Given the description of an element on the screen output the (x, y) to click on. 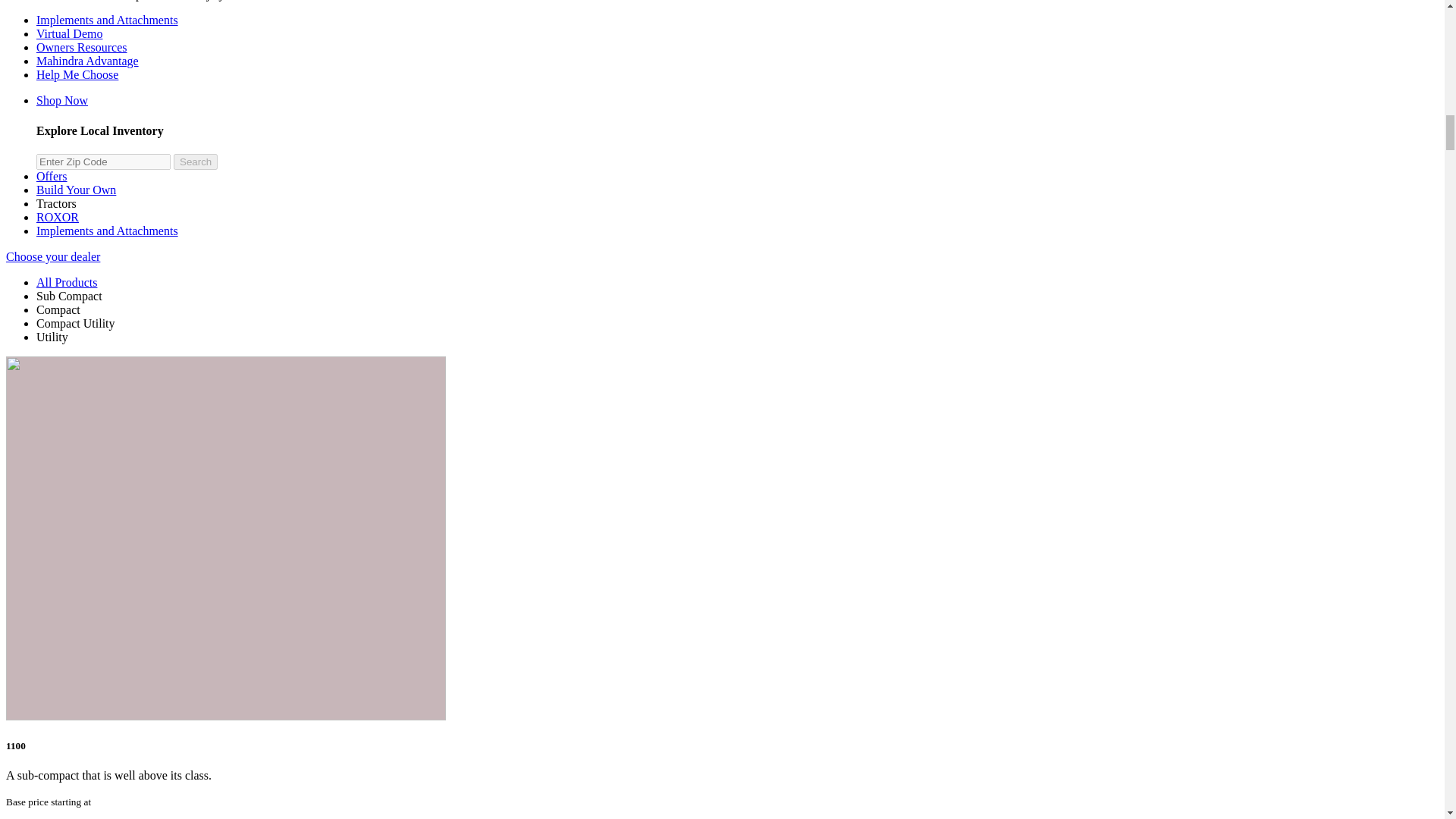
Shop Now (61, 100)
Search (194, 161)
Mahindra Advantage (87, 60)
Help Me Choose (76, 74)
Owners Resources (82, 47)
Virtual Demo (68, 33)
Implements and Attachments (106, 19)
